Given the description of an element on the screen output the (x, y) to click on. 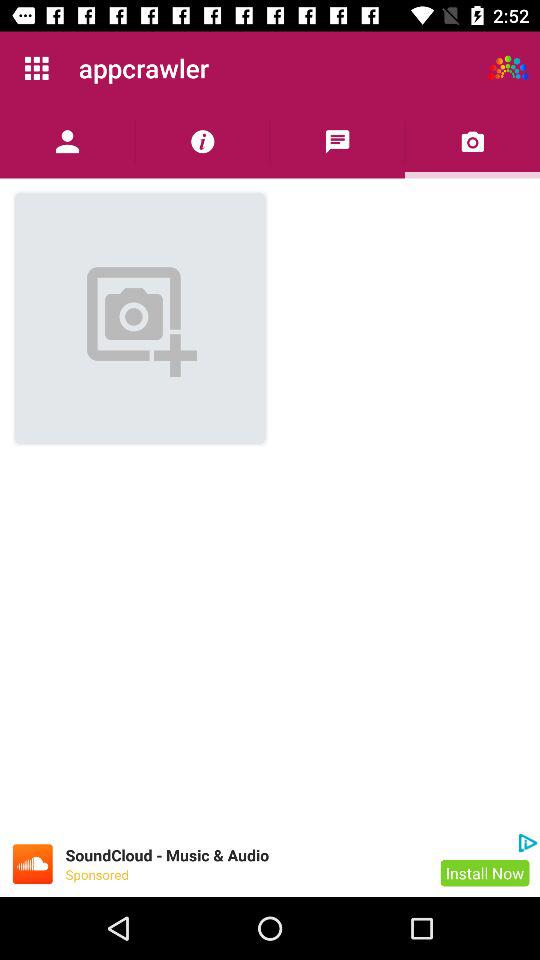
find a new date (508, 67)
